Given the description of an element on the screen output the (x, y) to click on. 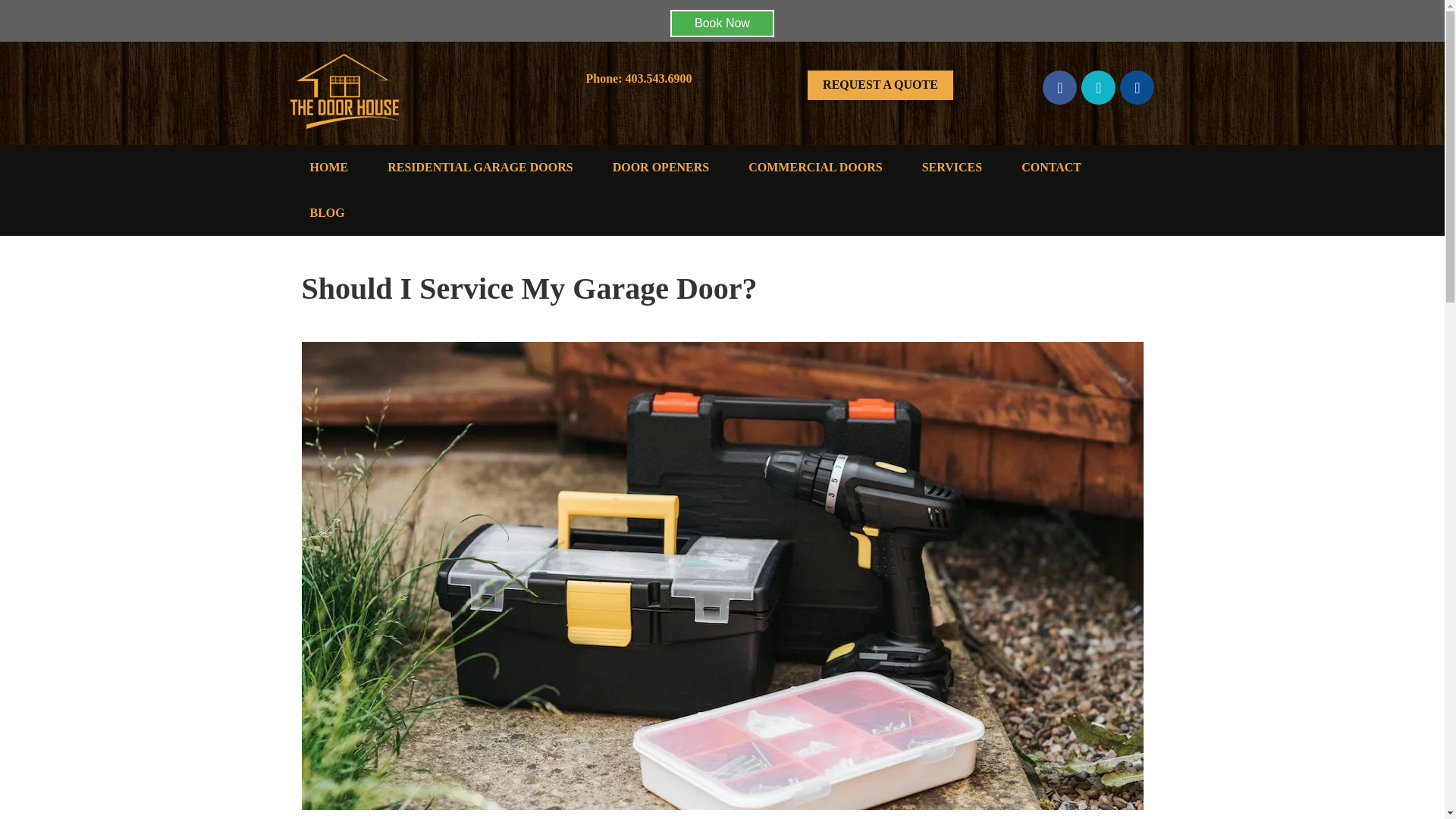
DOOR OPENERS (660, 167)
403.543.6900 (657, 78)
REQUEST A QUOTE (880, 84)
BLOG (326, 212)
CONTACT (1050, 167)
RESIDENTIAL GARAGE DOORS (480, 167)
Book Now (721, 22)
SERVICES (951, 167)
COMMERCIAL DOORS (815, 167)
HOME (328, 167)
